Given the description of an element on the screen output the (x, y) to click on. 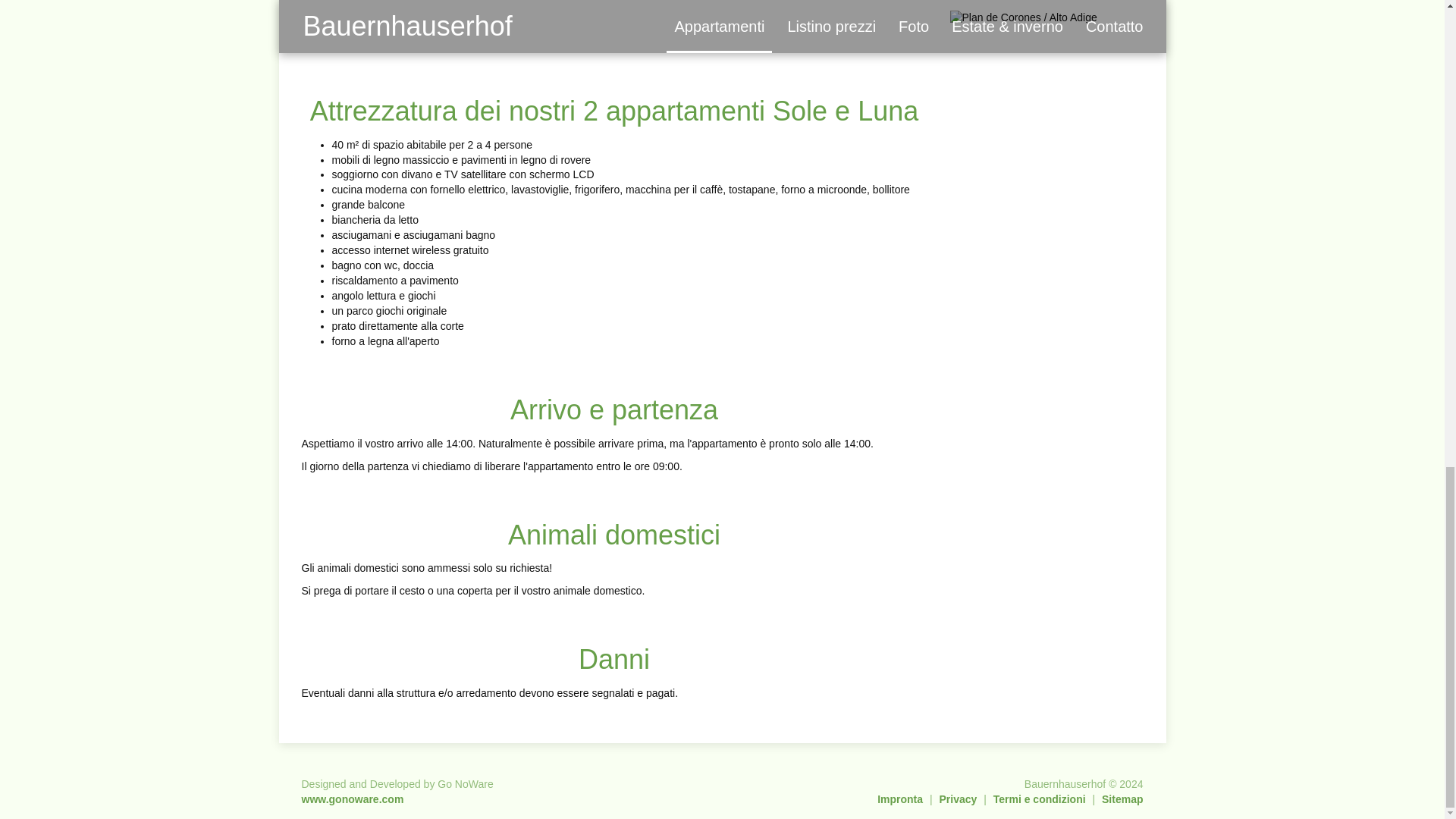
Privacy (957, 799)
www.gonoware.com (352, 799)
Impronta (900, 799)
Sitemap (1122, 799)
Termi e condizioni (1039, 799)
